Given the description of an element on the screen output the (x, y) to click on. 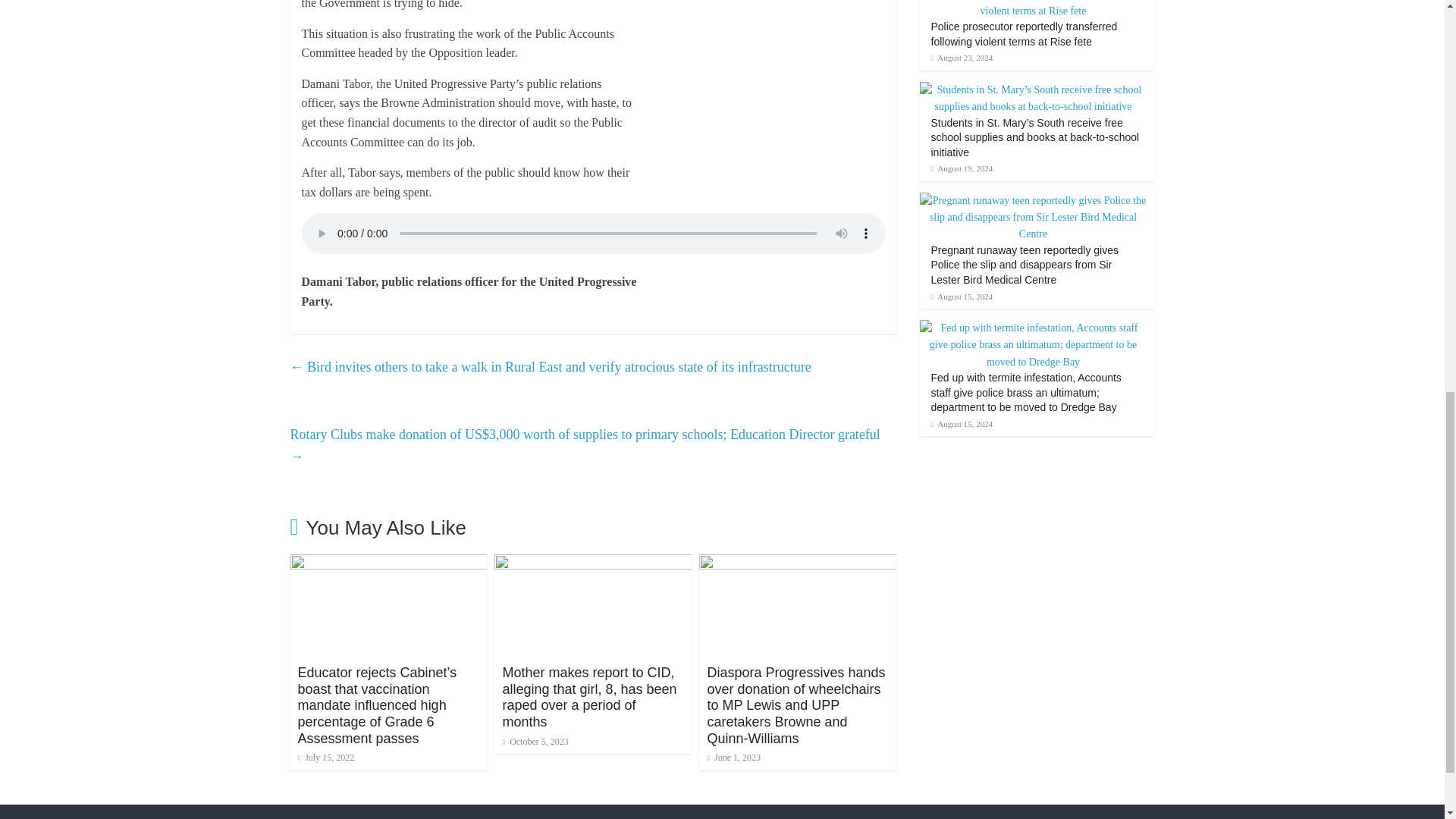
5:12 pm (325, 757)
